Given the description of an element on the screen output the (x, y) to click on. 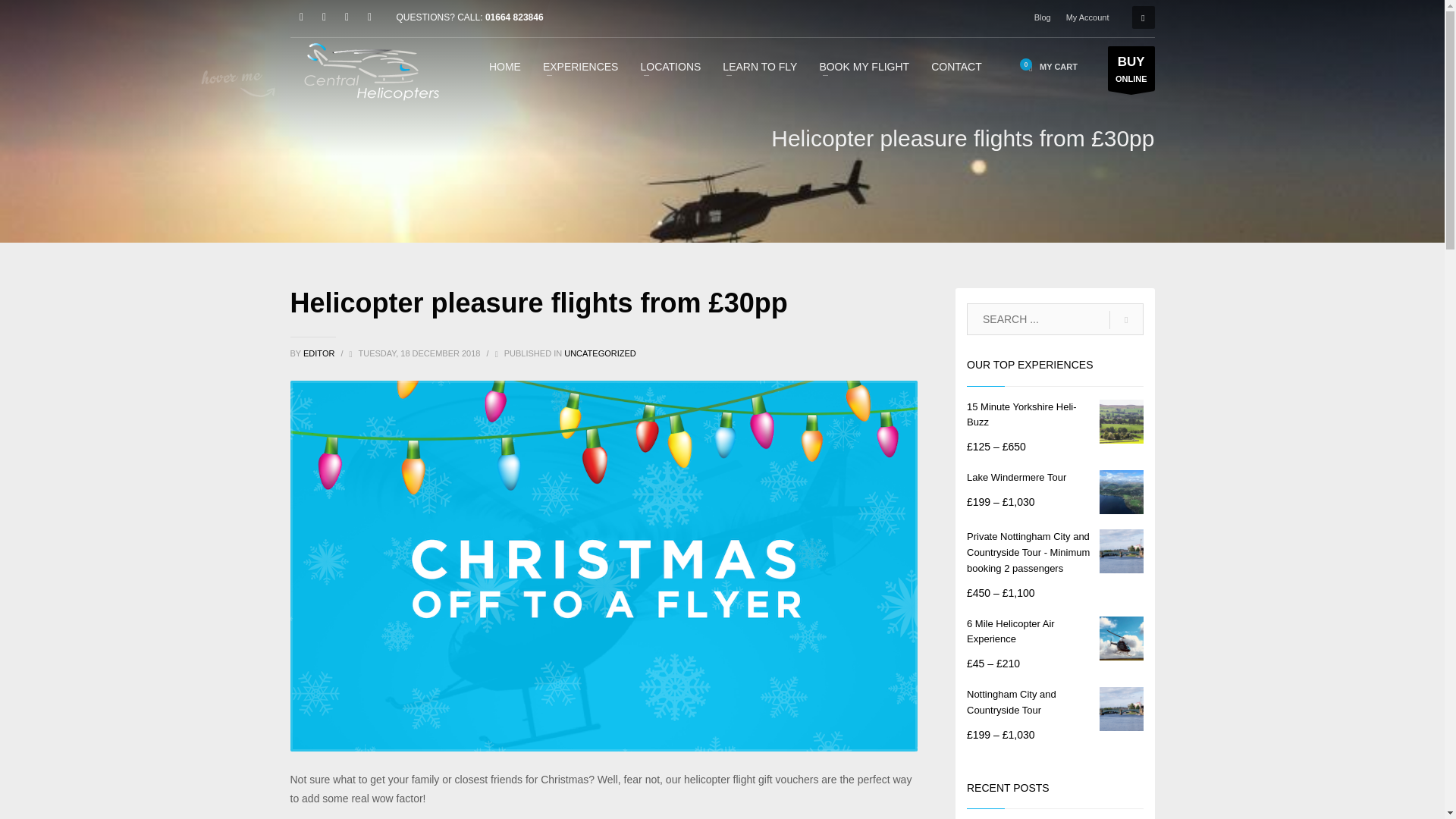
Blog (1042, 17)
Twitter (323, 16)
My Account (1087, 17)
HOME (504, 66)
Instagram (369, 16)
LEARN TO FLY (759, 66)
View your shopping cart (1049, 66)
LOCATIONS (670, 66)
EXPERIENCES (580, 66)
01664 823846 (513, 17)
Facebook (301, 16)
BOOK MY FLIGHT (863, 66)
YouTube (346, 16)
Take your dreams sky high (371, 73)
